Given the description of an element on the screen output the (x, y) to click on. 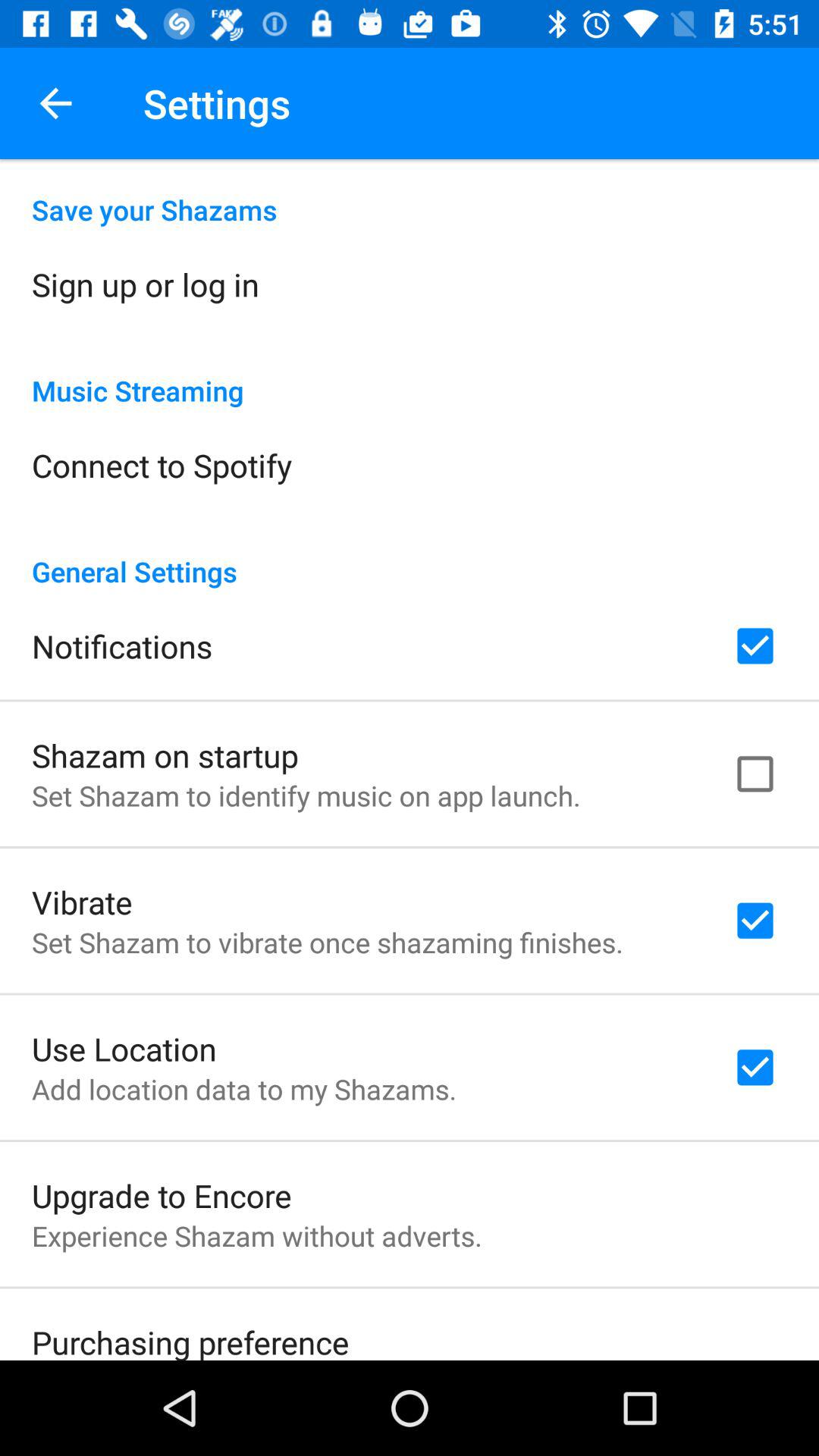
open the icon above purchasing preference item (256, 1235)
